Given the description of an element on the screen output the (x, y) to click on. 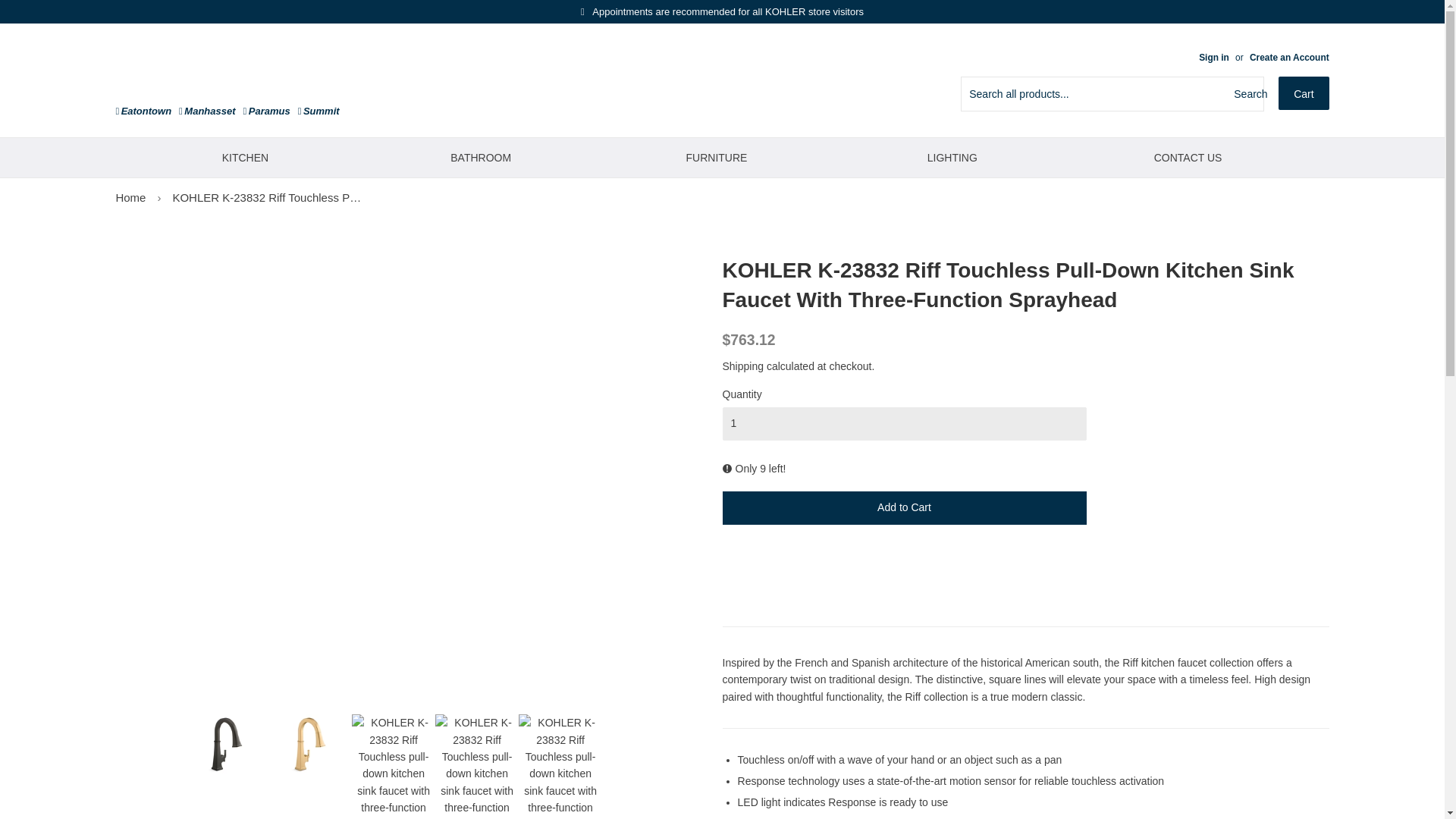
Paramus (266, 110)
Manhasset (206, 110)
Summit (318, 110)
Back to the frontpage (130, 197)
Eatontown (143, 110)
Sign in (1213, 57)
Create an Account (1289, 57)
Cart (1302, 92)
Search (1245, 93)
Appointments are recommended for all KOHLER store visitors (721, 11)
